Given the description of an element on the screen output the (x, y) to click on. 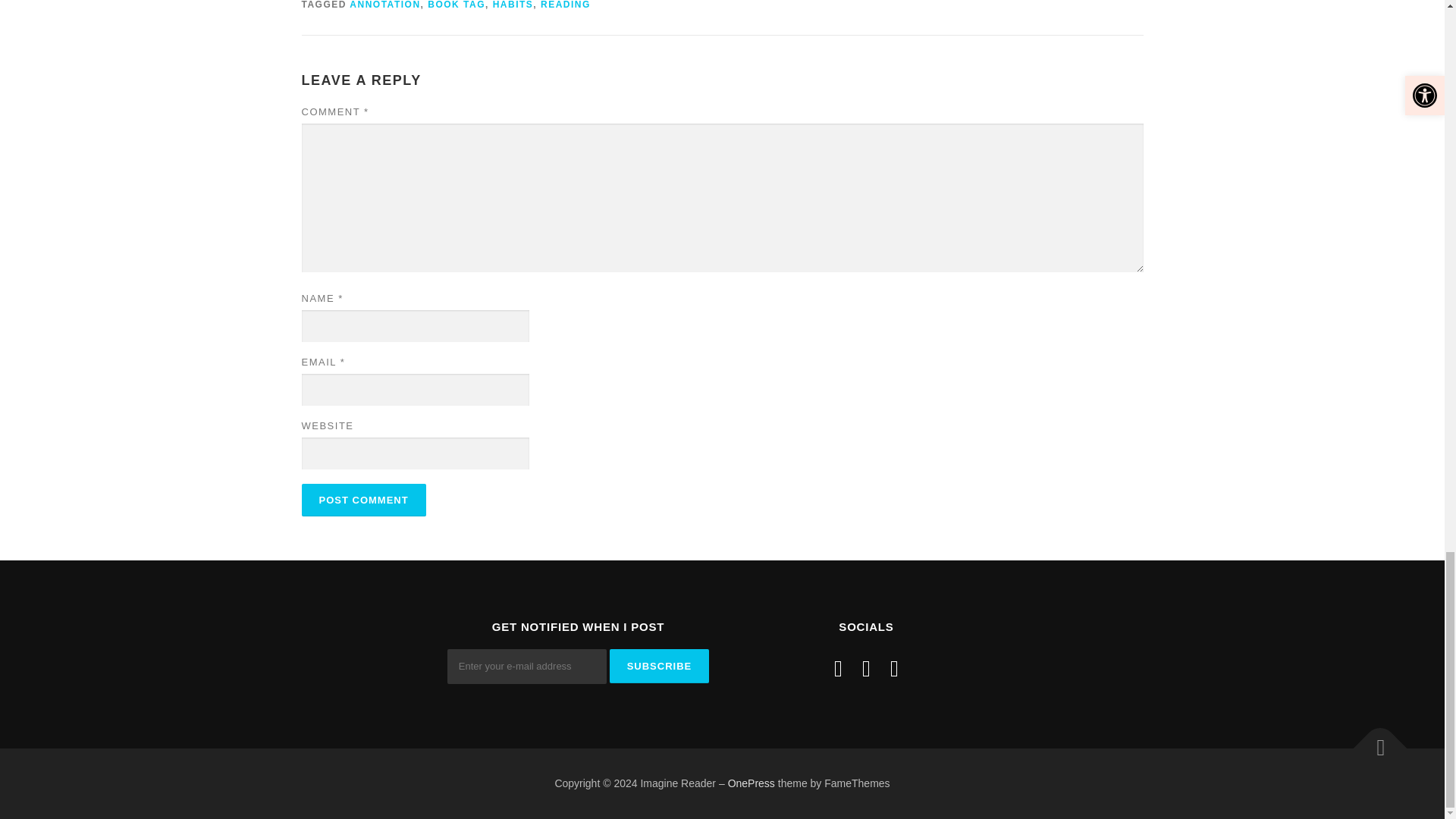
READING (565, 4)
Subscribe (660, 666)
Subscribe (660, 666)
BOOK TAG (456, 4)
ANNOTATION (384, 4)
Back To Top (1372, 740)
Post Comment (363, 500)
OnePress (751, 783)
Post Comment (363, 500)
HABITS (513, 4)
